Given the description of an element on the screen output the (x, y) to click on. 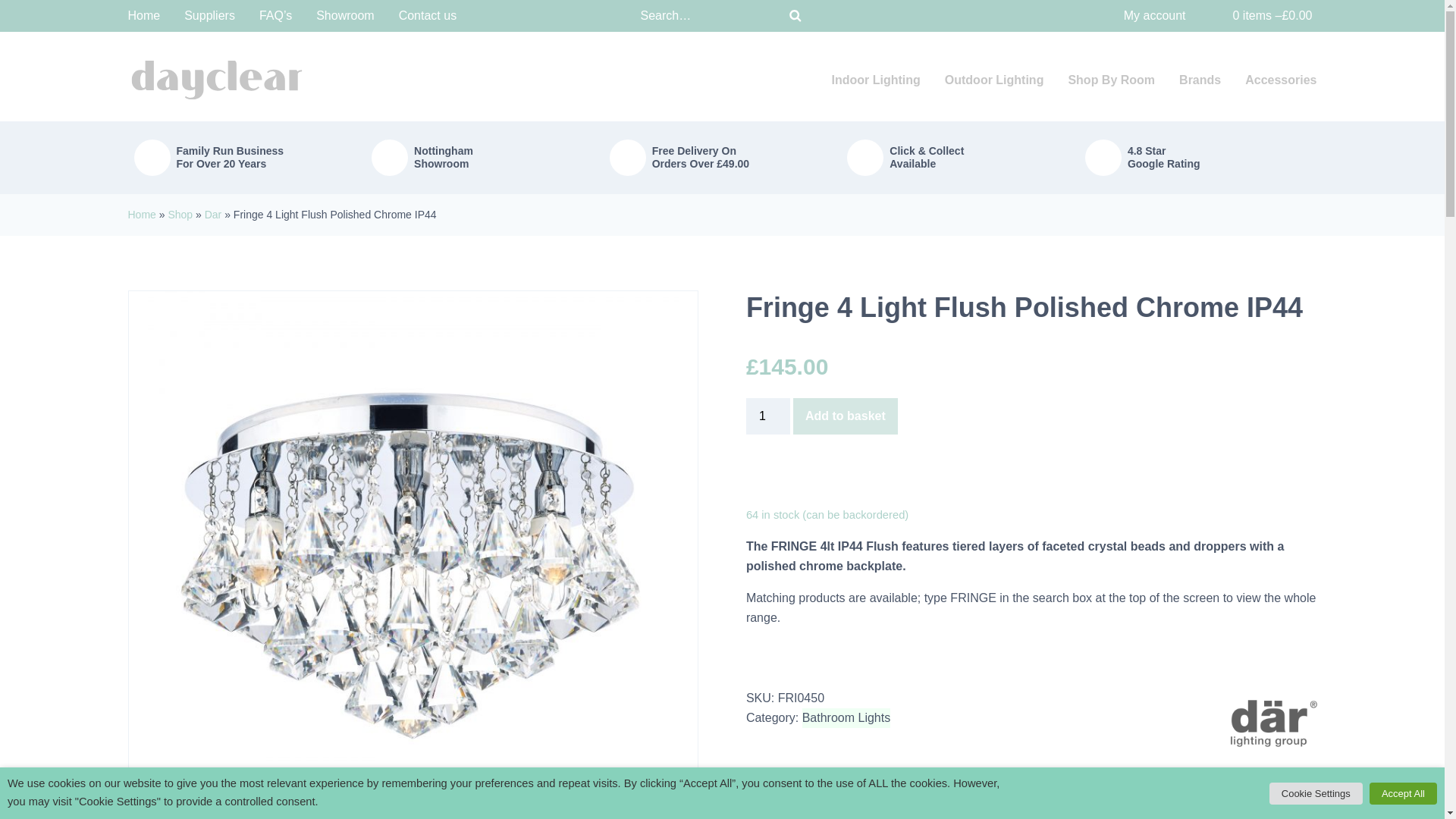
Search for: (706, 15)
1 (767, 415)
PayPal (1031, 479)
View your shopping cart (1263, 15)
Qty (767, 415)
Search (795, 15)
PayPal Message 1 (1031, 757)
